Given the description of an element on the screen output the (x, y) to click on. 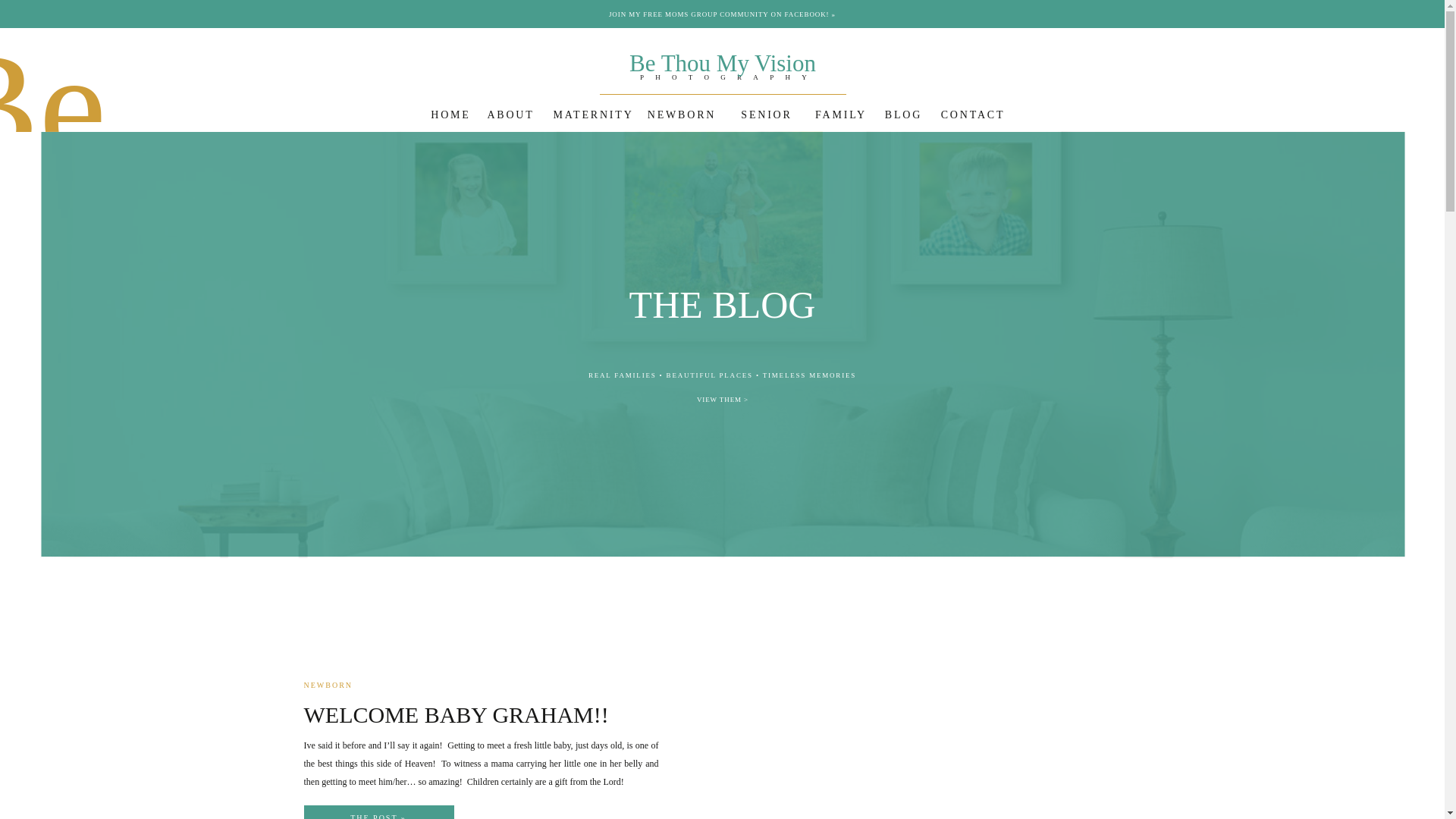
ABOUT (510, 112)
SENIOR (766, 113)
NEWBORN (327, 684)
BLOG (902, 112)
FAMILY (839, 113)
mama carrying her little one in her belly (567, 763)
HOME (450, 113)
Welcome Baby Graham!! (377, 812)
Welcome Baby Graham!! (378, 814)
Be Thou My Vision (723, 59)
WELCOME BABY GRAHAM!! (455, 714)
MATERNITY (592, 114)
NEWBORN (681, 113)
Welcome Baby Graham!! (929, 717)
CONTACT (973, 114)
